Given the description of an element on the screen output the (x, y) to click on. 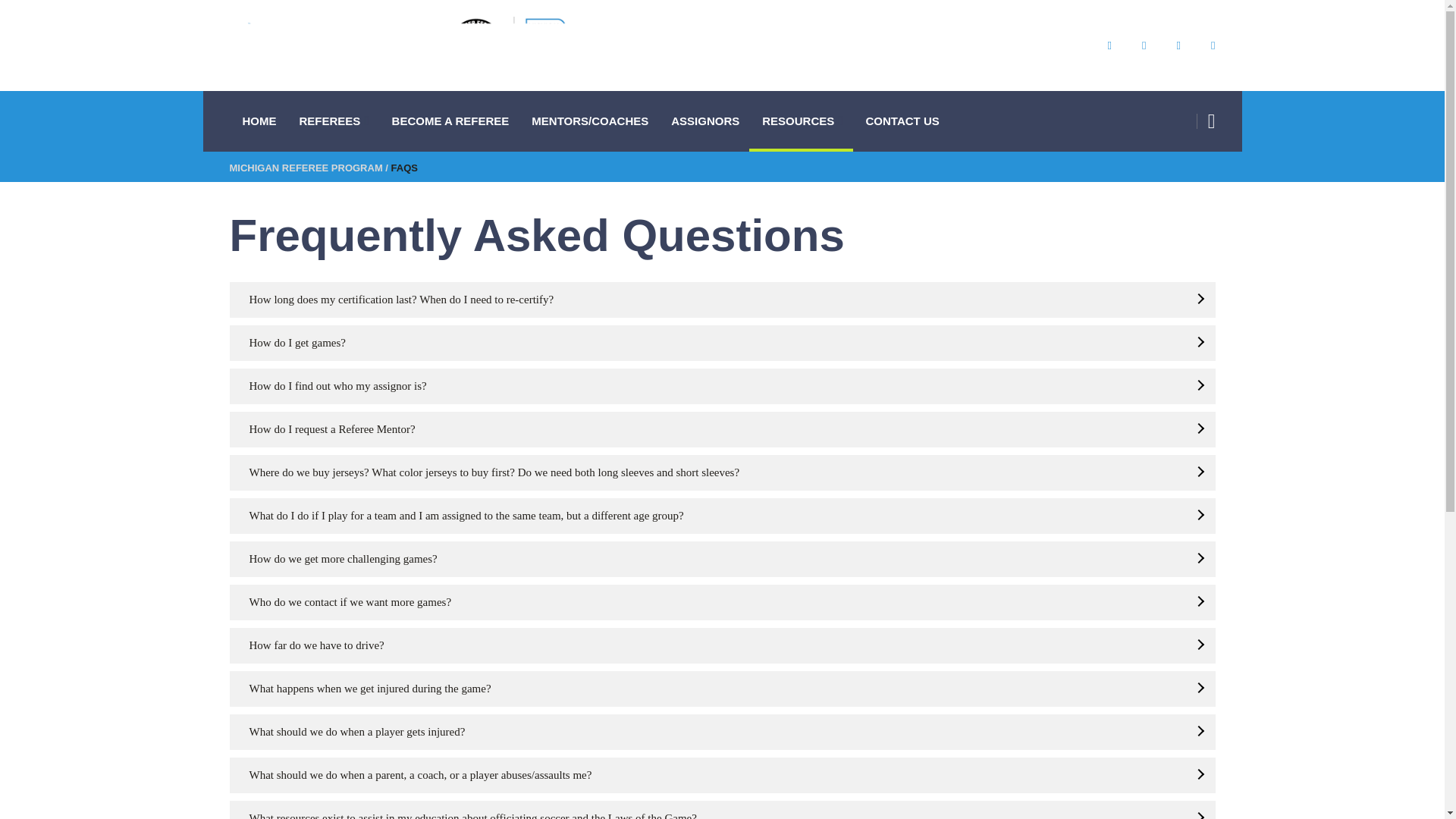
Search (1171, 174)
REFEREES (332, 120)
RESOURCES (800, 120)
BECOME A REFEREE (448, 120)
ASSIGNORS (703, 120)
CONTACT US (900, 120)
HOME (256, 120)
